Given the description of an element on the screen output the (x, y) to click on. 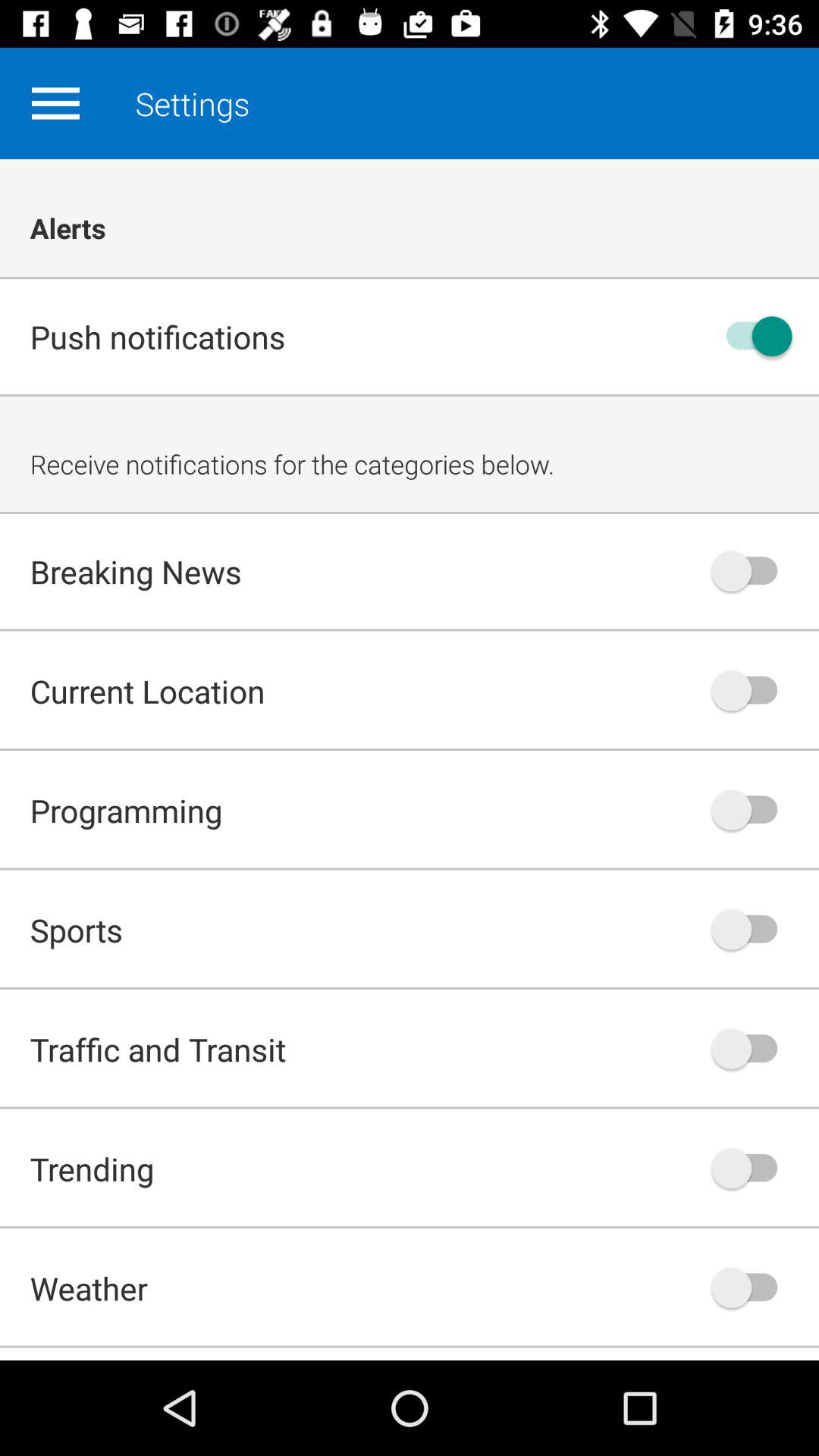
toggle turn on or off (751, 690)
